Given the description of an element on the screen output the (x, y) to click on. 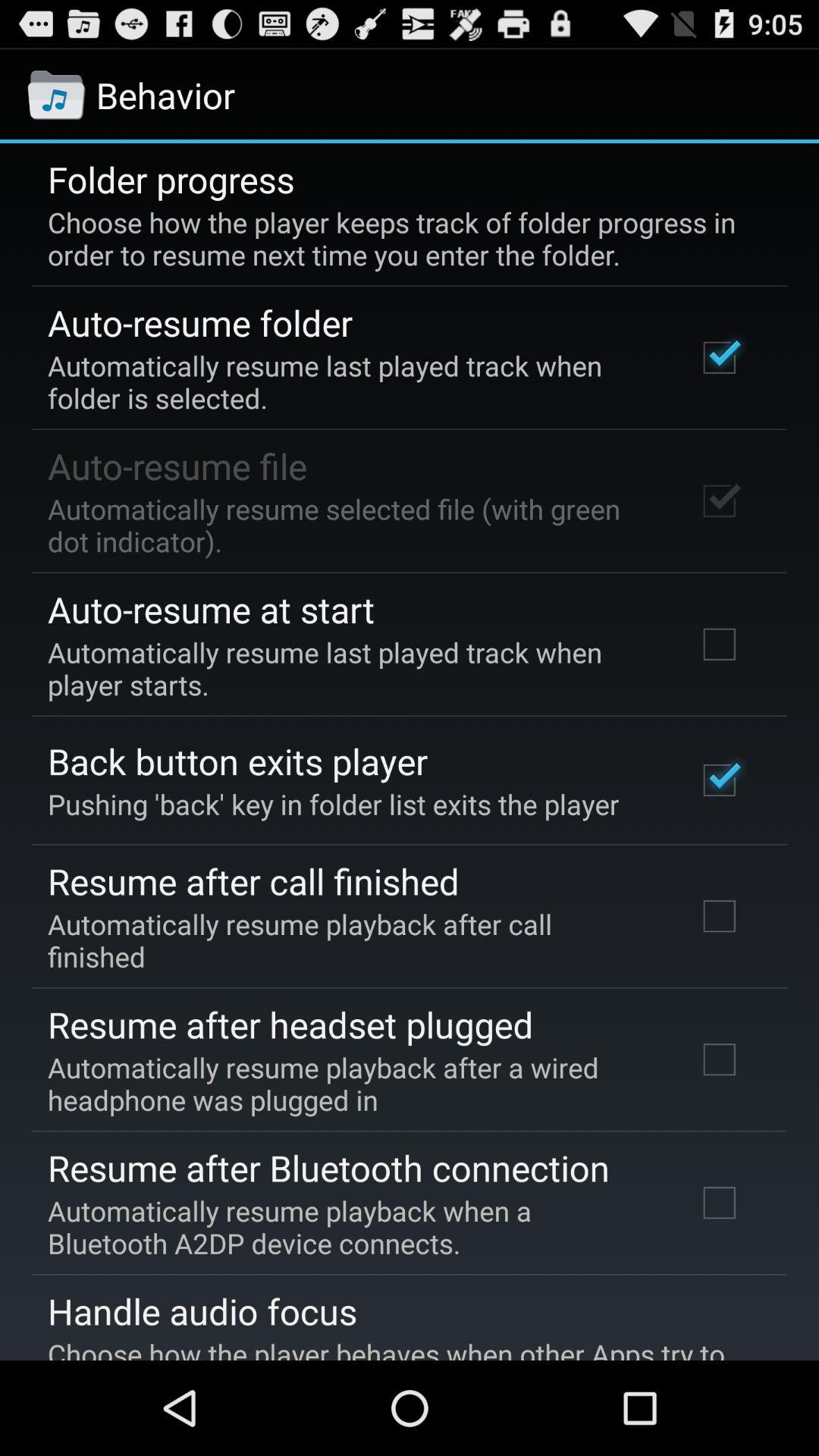
turn on pushing back key icon (333, 803)
